Given the description of an element on the screen output the (x, y) to click on. 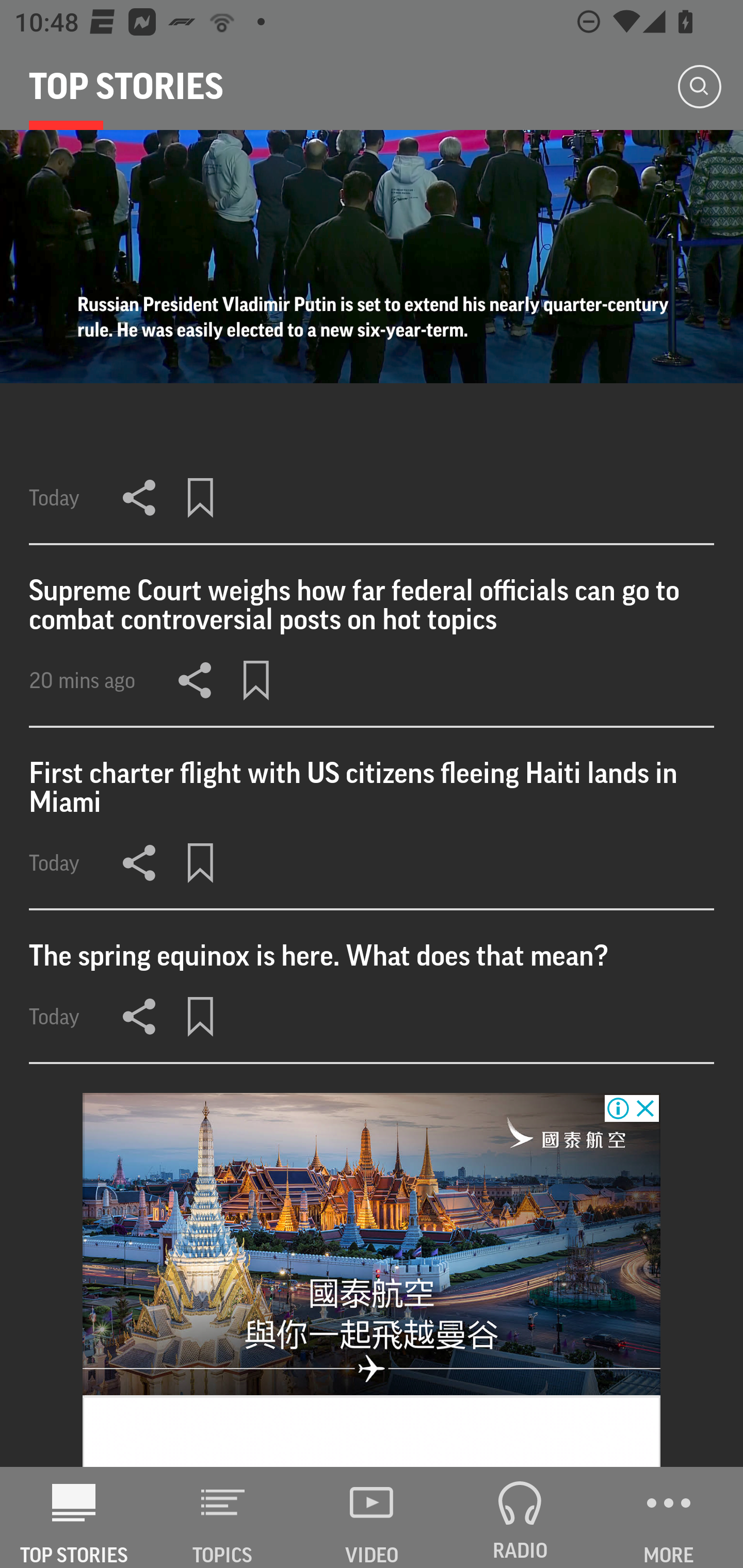
toggle controls Today (371, 337)
toggle controls (371, 256)
AP News TOP STORIES (74, 1517)
TOPICS (222, 1517)
VIDEO (371, 1517)
RADIO (519, 1517)
MORE (668, 1517)
